Given the description of an element on the screen output the (x, y) to click on. 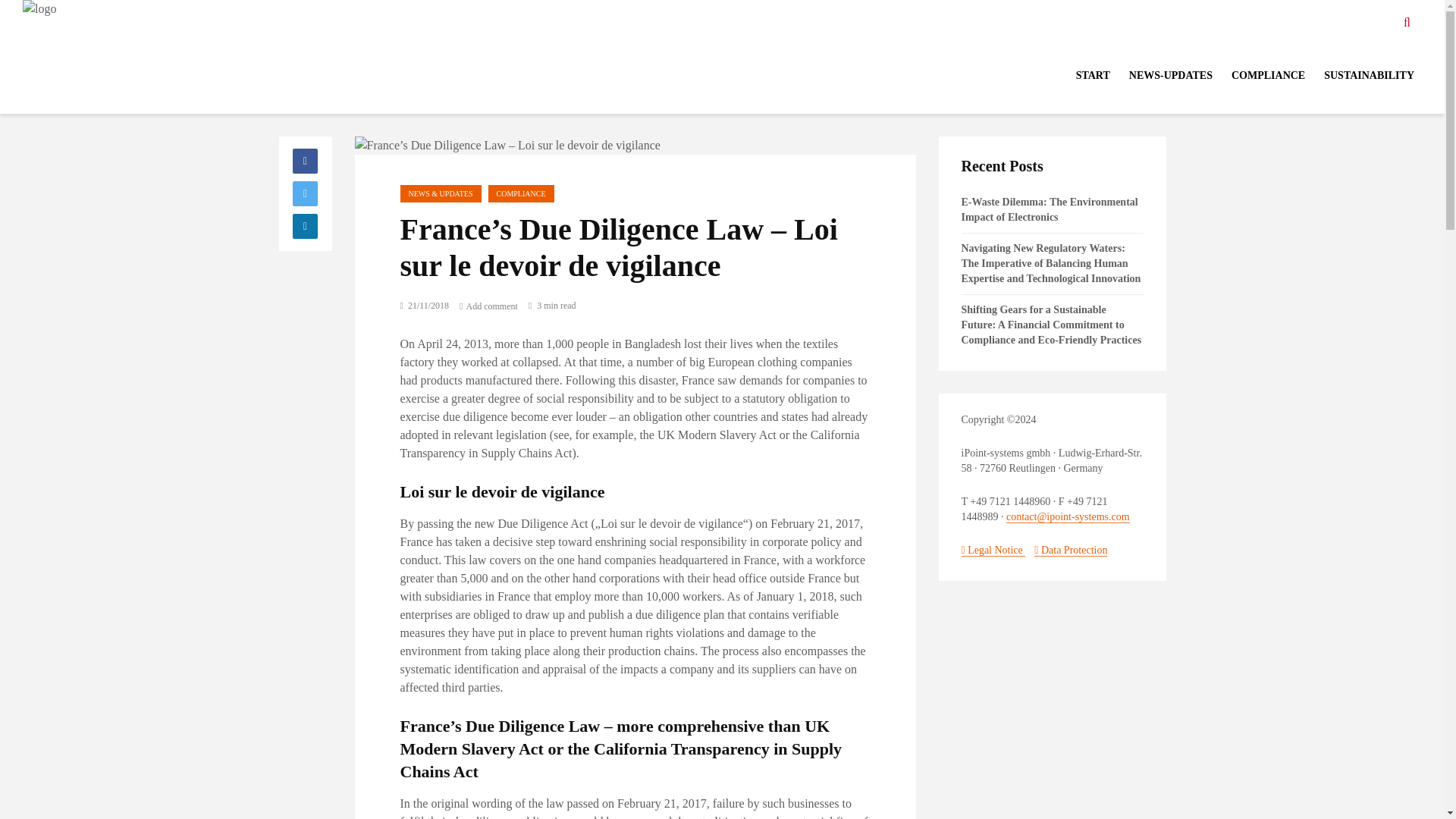
SUSTAINABILITY (1369, 75)
twitter (304, 193)
START (1093, 75)
Add comment (489, 305)
COMPLIANCE (1268, 75)
COMPLIANCE (520, 193)
NEWS-UPDATES (1170, 75)
